Given the description of an element on the screen output the (x, y) to click on. 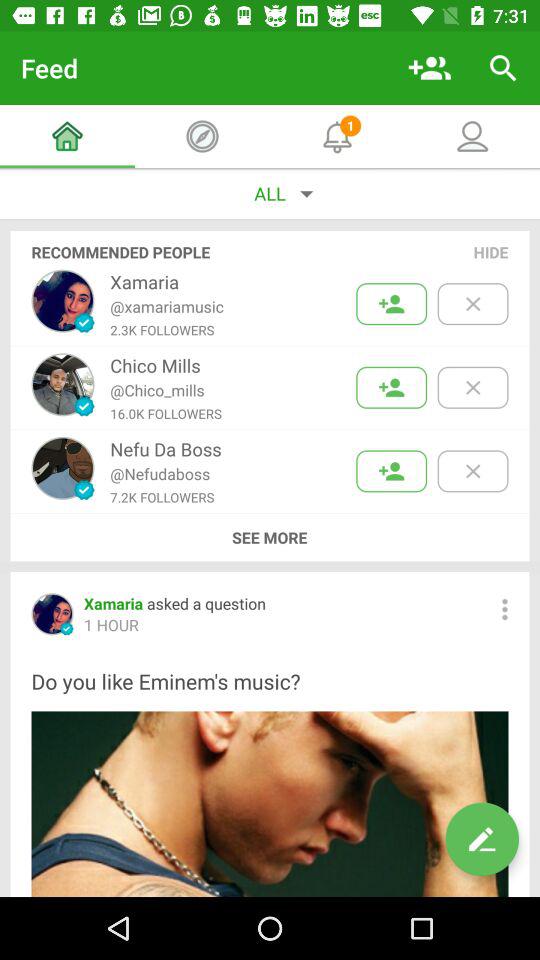
remove recommendation (472, 303)
